Given the description of an element on the screen output the (x, y) to click on. 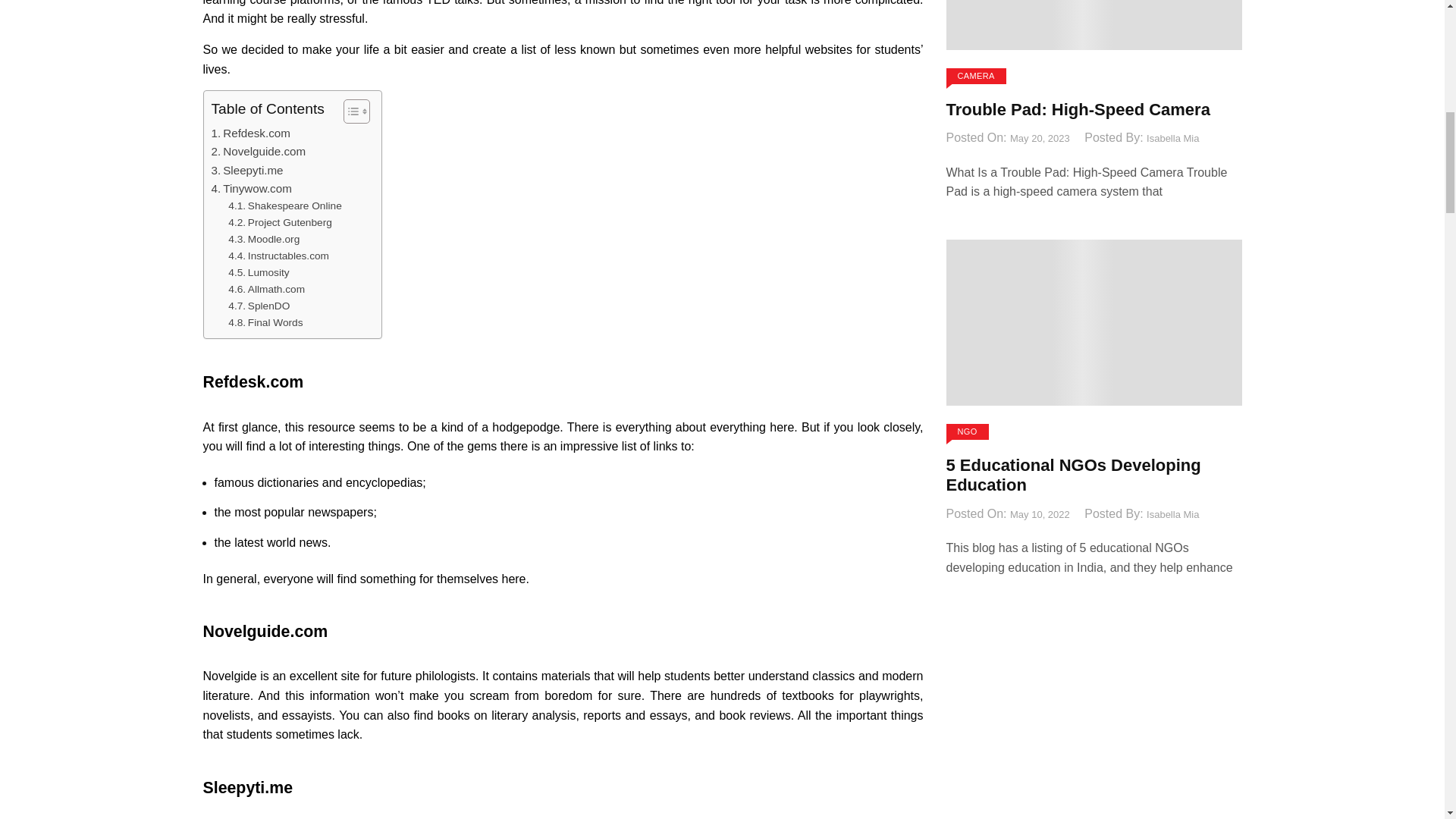
Final Words (265, 322)
Instructables.com (278, 256)
Refdesk.com (250, 133)
Project Gutenberg (279, 222)
Sleepyti.me (246, 170)
Tinywow.com (251, 188)
Shakespeare Online (284, 206)
SplenDO (258, 306)
Allmath.com (266, 289)
Lumosity (258, 272)
